Given the description of an element on the screen output the (x, y) to click on. 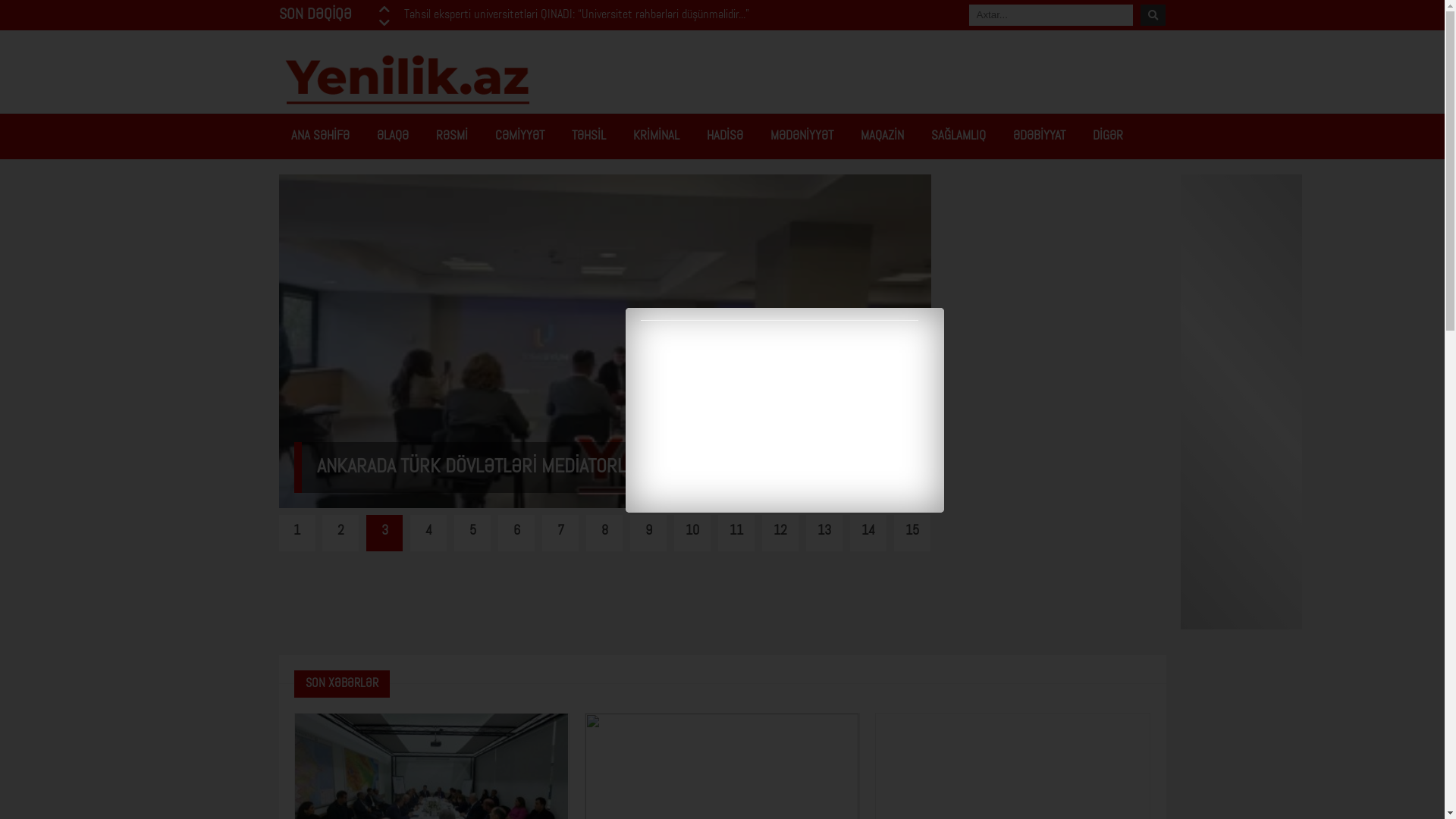
Advertisement Element type: hover (1056, 401)
Yenilik.Az Element type: hover (377, 78)
Advertisement Element type: hover (601, 595)
Advertisement Element type: hover (890, 75)
